Given the description of an element on the screen output the (x, y) to click on. 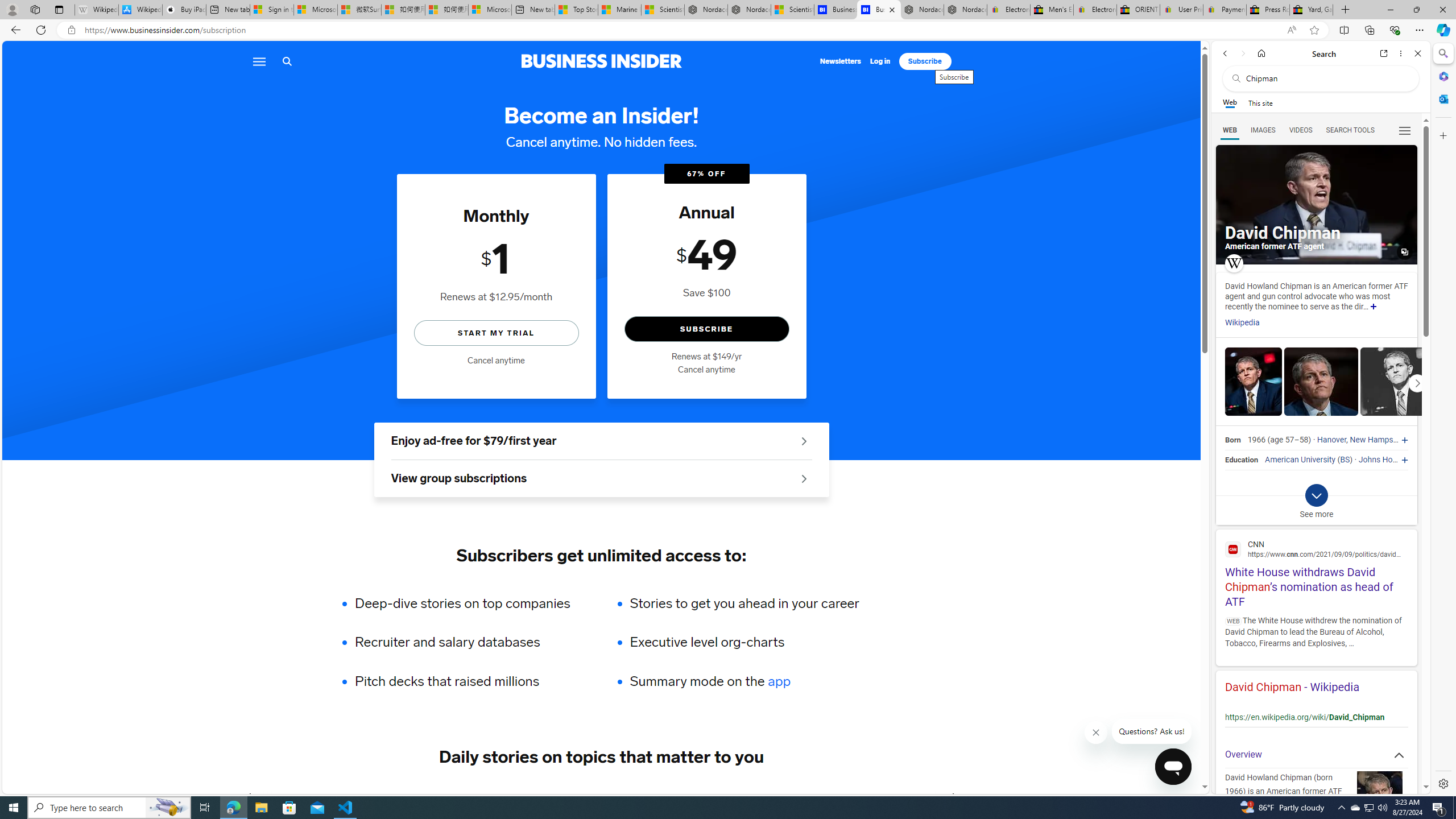
EXECUTIVE LIFESTYLE (788, 796)
Johns Hopkins University (1403, 460)
New Hampshire (1377, 439)
Deep-dive stories on top companies (470, 602)
